Given the description of an element on the screen output the (x, y) to click on. 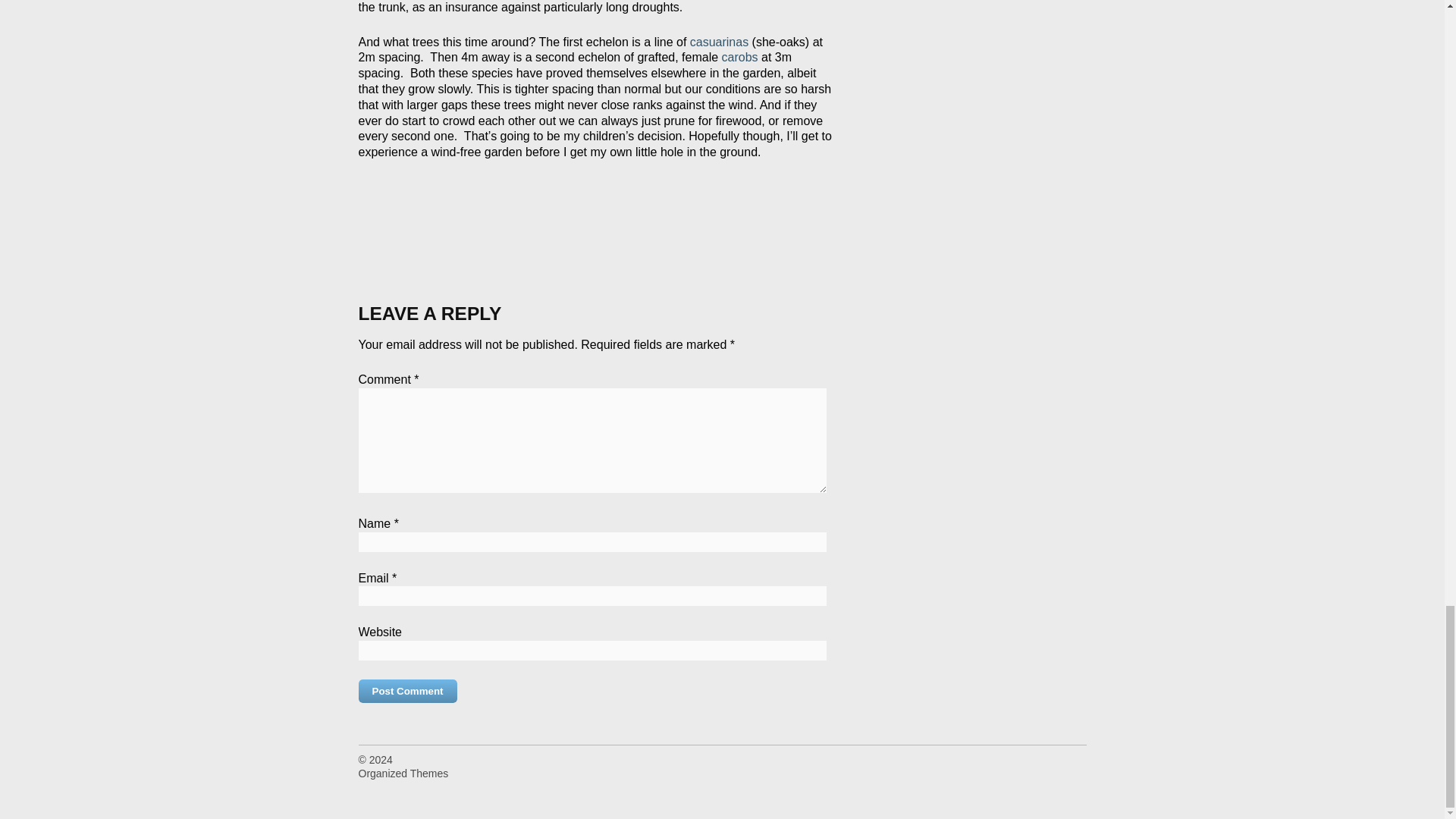
Post Comment (407, 690)
casuarinas (719, 42)
carobs (737, 56)
Post Comment (407, 690)
